Given the description of an element on the screen output the (x, y) to click on. 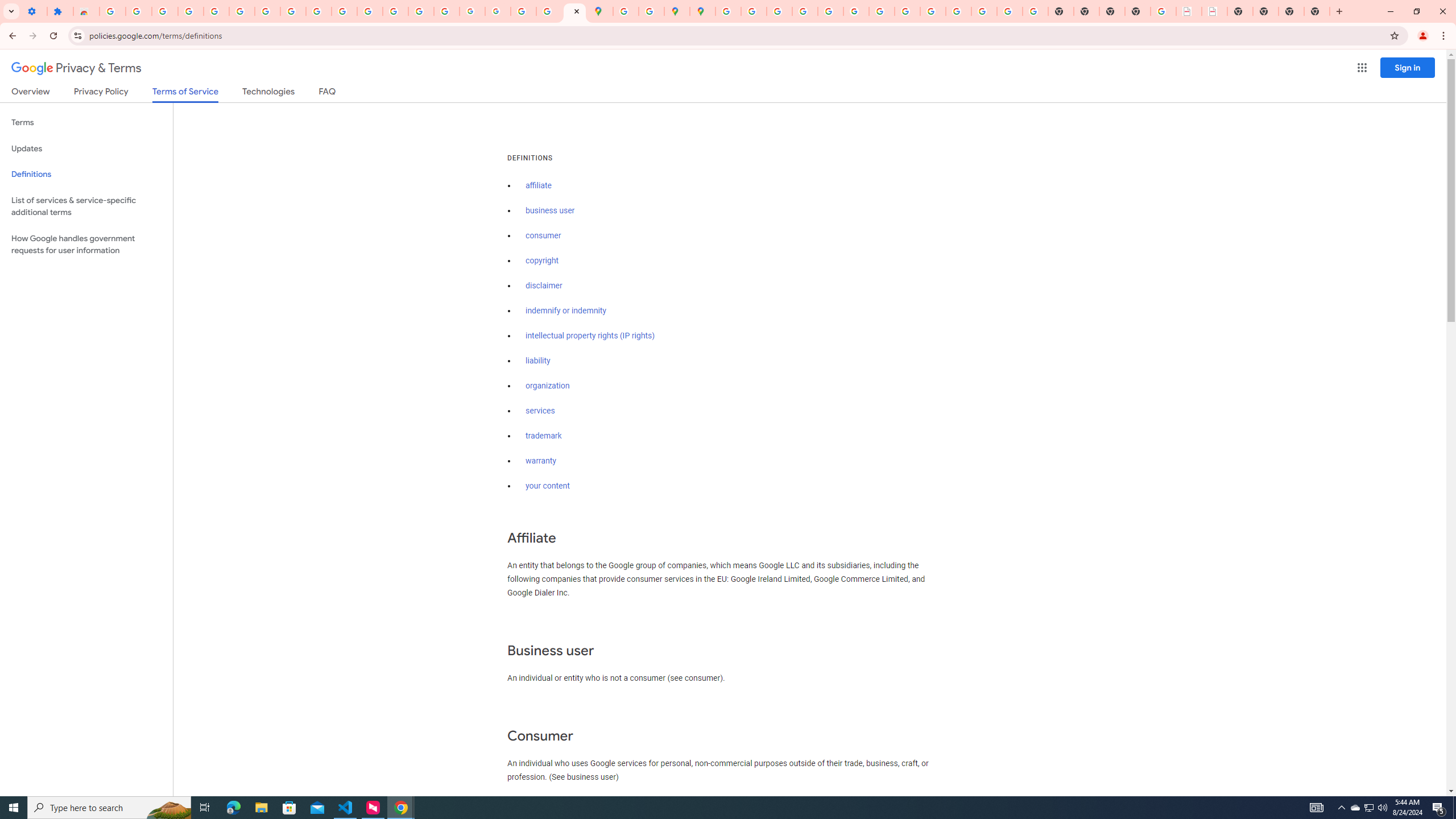
intellectual property rights (IP rights) (590, 335)
YouTube (881, 11)
